Given the description of an element on the screen output the (x, y) to click on. 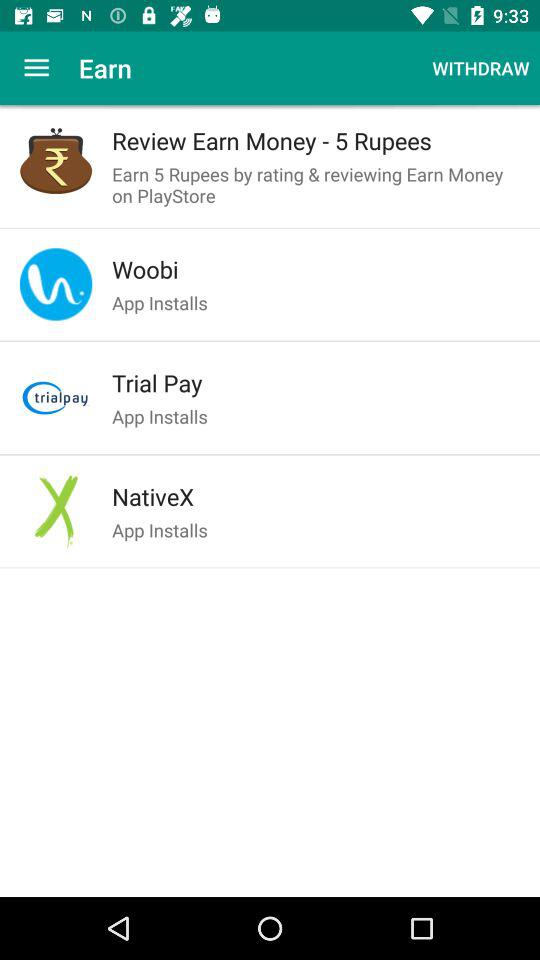
press withdraw at the top right corner (480, 67)
